Given the description of an element on the screen output the (x, y) to click on. 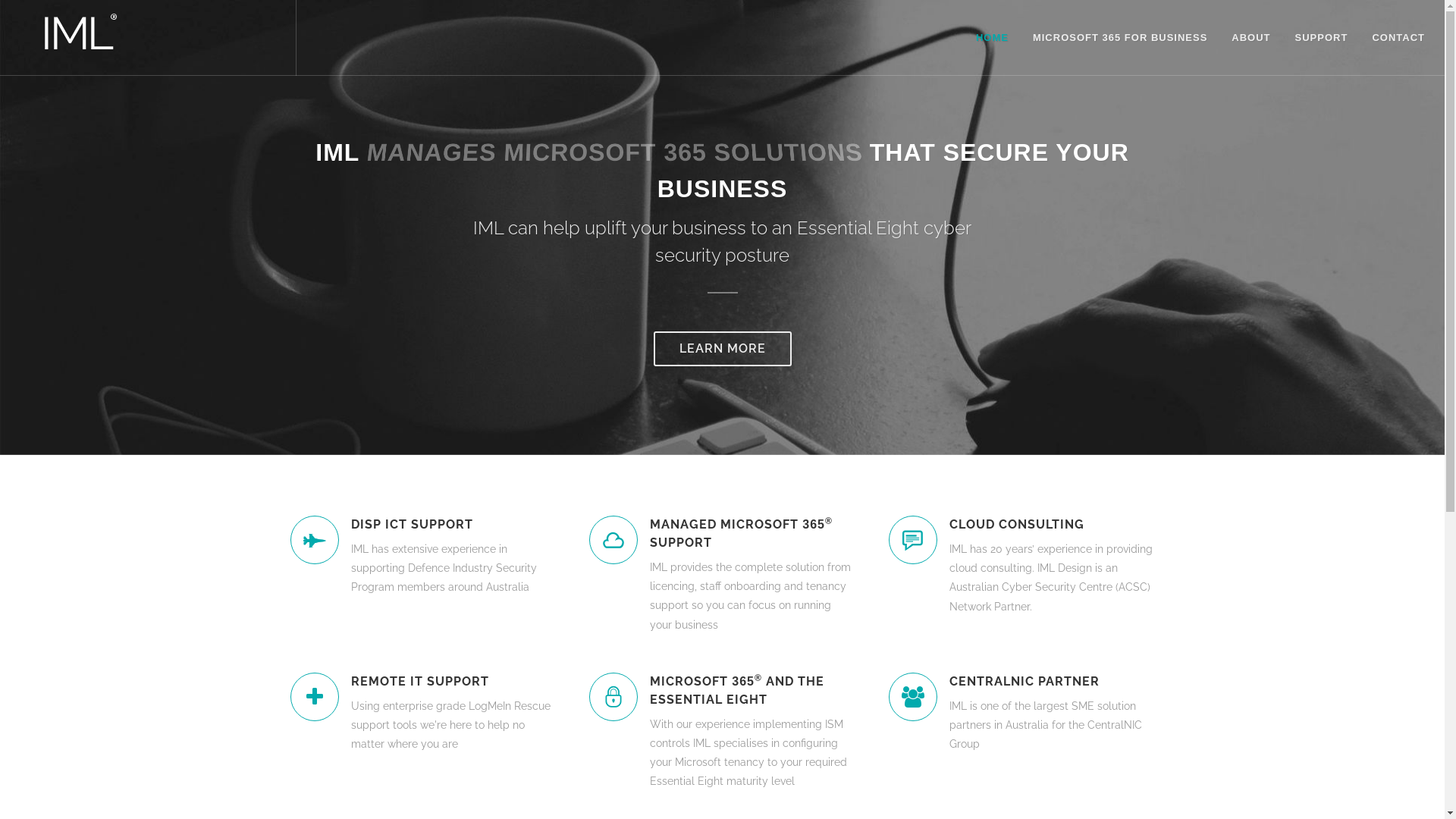
DISP ICT SUPPORT Element type: text (452, 524)
CONTACT Element type: text (1398, 37)
CENTRALNIC PARTNER Element type: text (1051, 681)
CLOUD CONSULTING Element type: text (1051, 524)
LEARN MORE Element type: text (722, 347)
REMOTE IT SUPPORT Element type: text (452, 681)
SUPPORT Element type: text (1321, 37)
ABOUT Element type: text (1250, 37)
HOME Element type: text (991, 37)
MICROSOFT 365 FOR BUSINESS Element type: text (1119, 37)
